Given the description of an element on the screen output the (x, y) to click on. 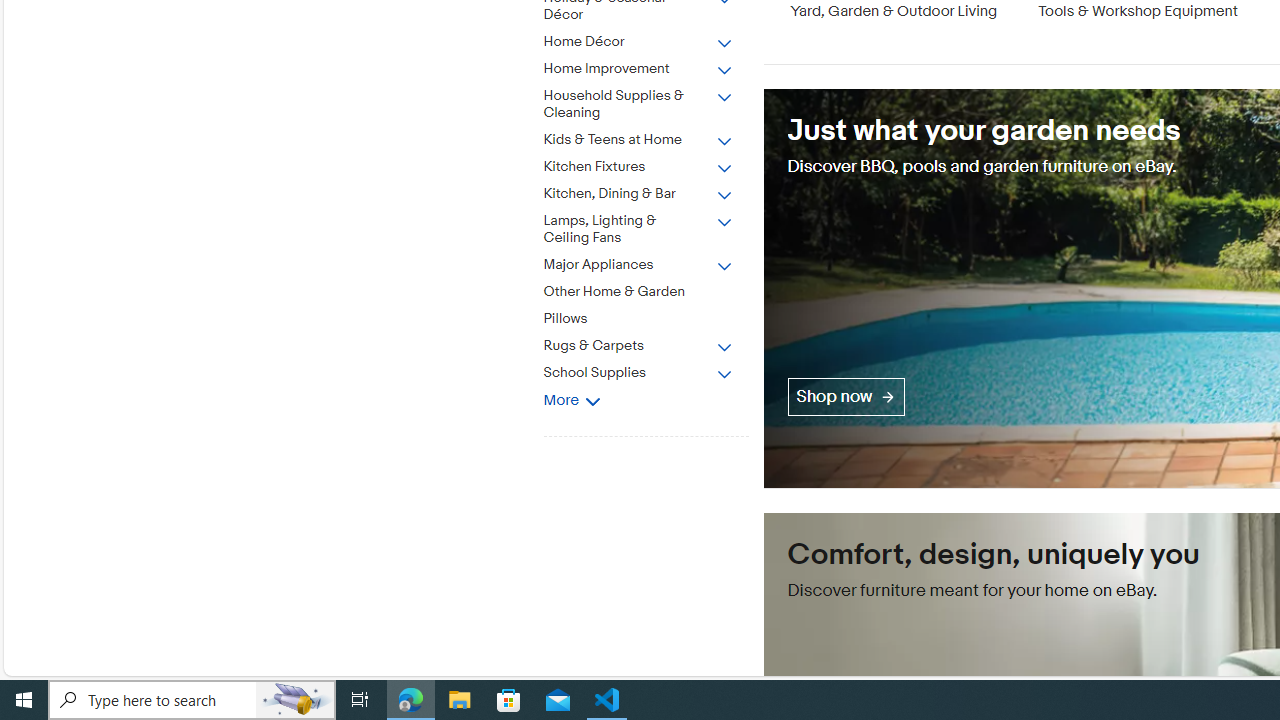
Kids & Teens at Home (637, 140)
Home Improvement (637, 69)
Kitchen, Dining & Bar (653, 190)
Lamps, Lighting & Ceiling Fans (653, 225)
Rugs & Carpets (653, 342)
Kids & Teens at Home (653, 136)
School Supplies (637, 373)
School Supplies (653, 369)
Home Improvement (653, 65)
Household Supplies & Cleaning (653, 101)
Major Appliances (653, 261)
Major Appliances (637, 265)
Kitchen, Dining & Bar (637, 194)
Pillows (637, 319)
